Given the description of an element on the screen output the (x, y) to click on. 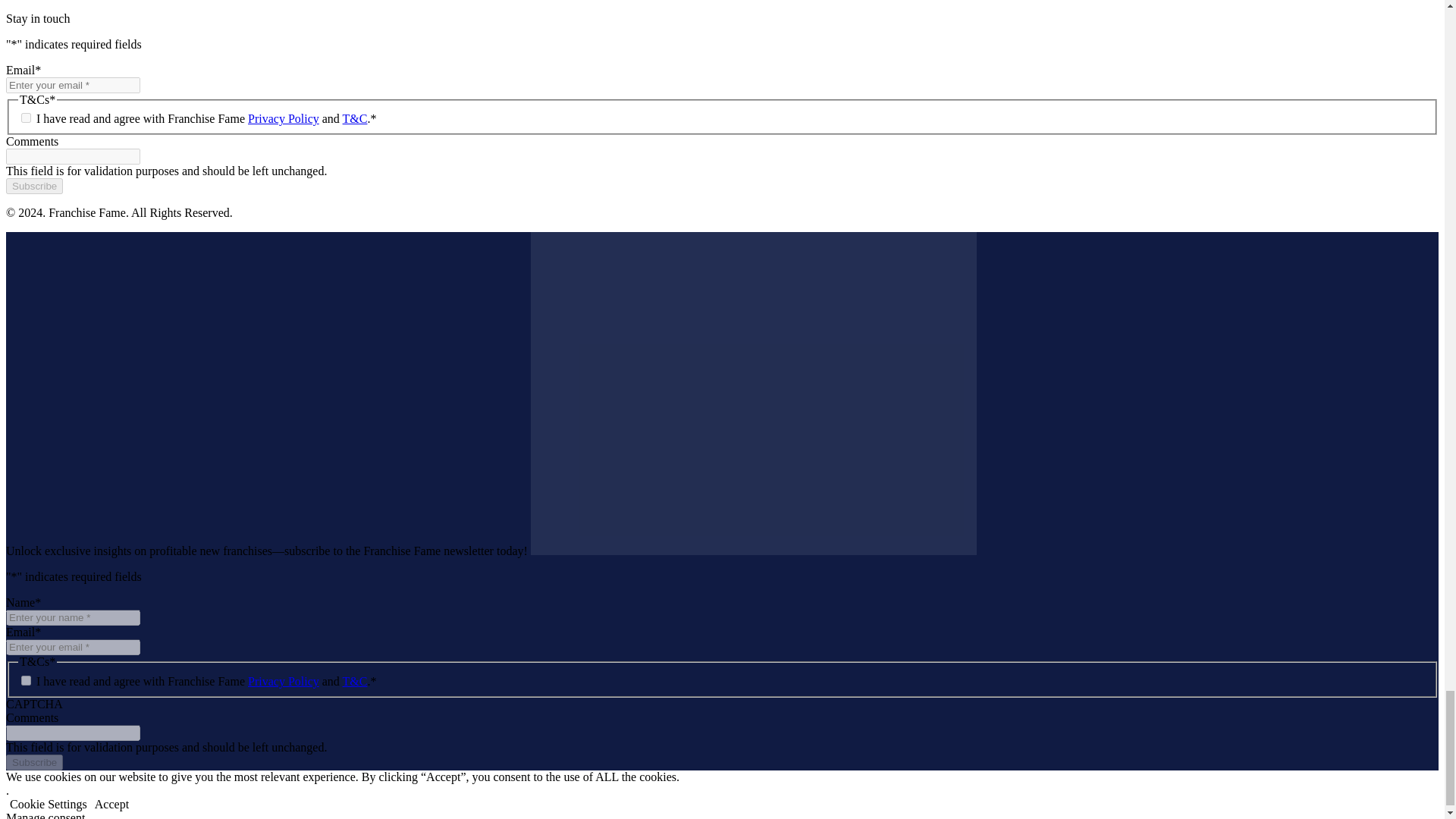
1 (25, 680)
1 (25, 117)
Subscribe (33, 186)
Subscribe (33, 762)
